Given the description of an element on the screen output the (x, y) to click on. 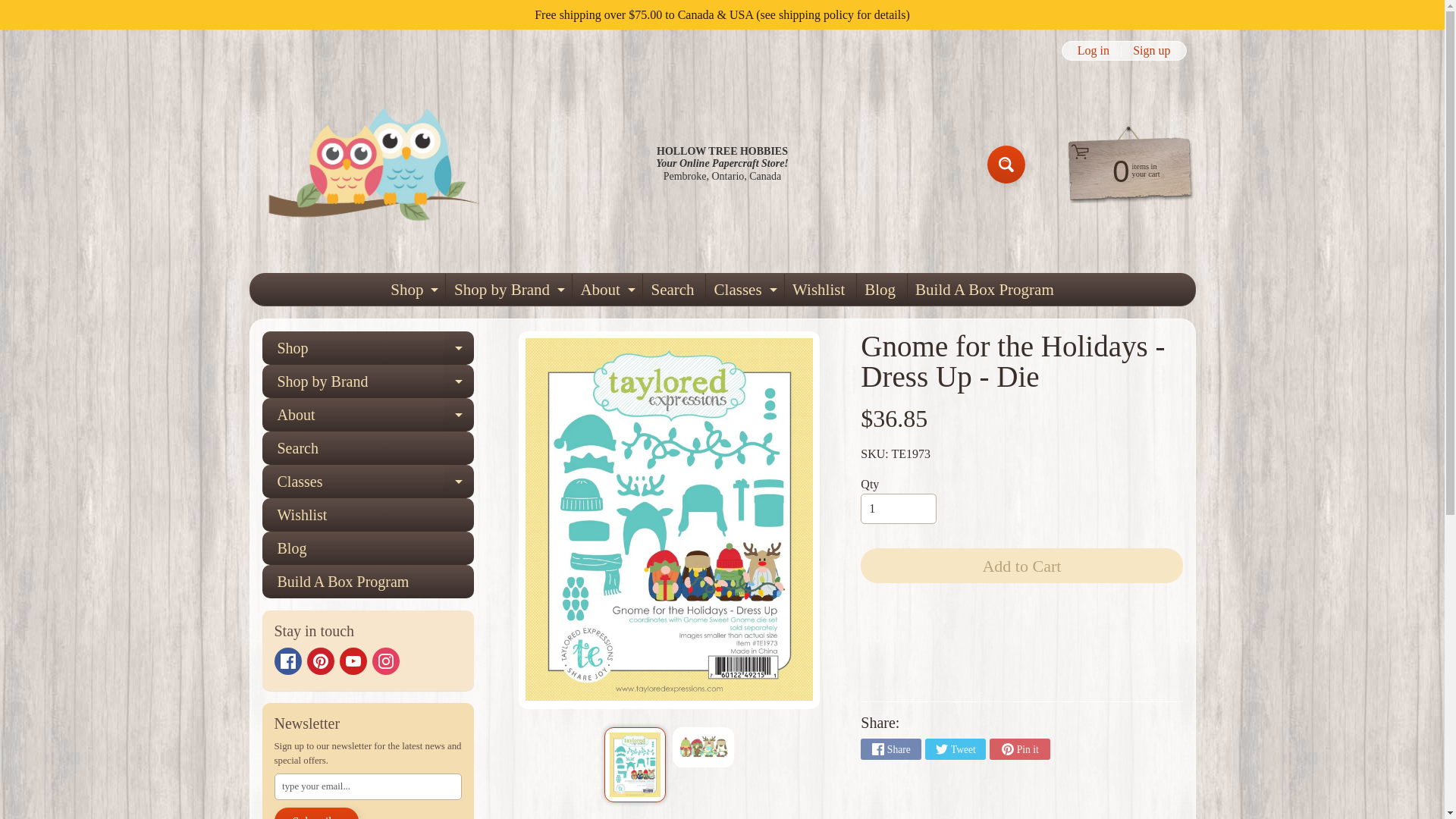
Pin on Pinterest (1019, 749)
Search (1006, 164)
Gnome for the Holidays - Dress Up - Die (702, 747)
Log in (1093, 50)
1 (898, 508)
Sign up (1151, 50)
Facebook (288, 660)
Skip to content (412, 289)
Search (22, 8)
Pinterest (1006, 164)
Hollow Tree Hobbies (319, 660)
Tweet on Twitter (373, 164)
Instagram (1122, 169)
